Given the description of an element on the screen output the (x, y) to click on. 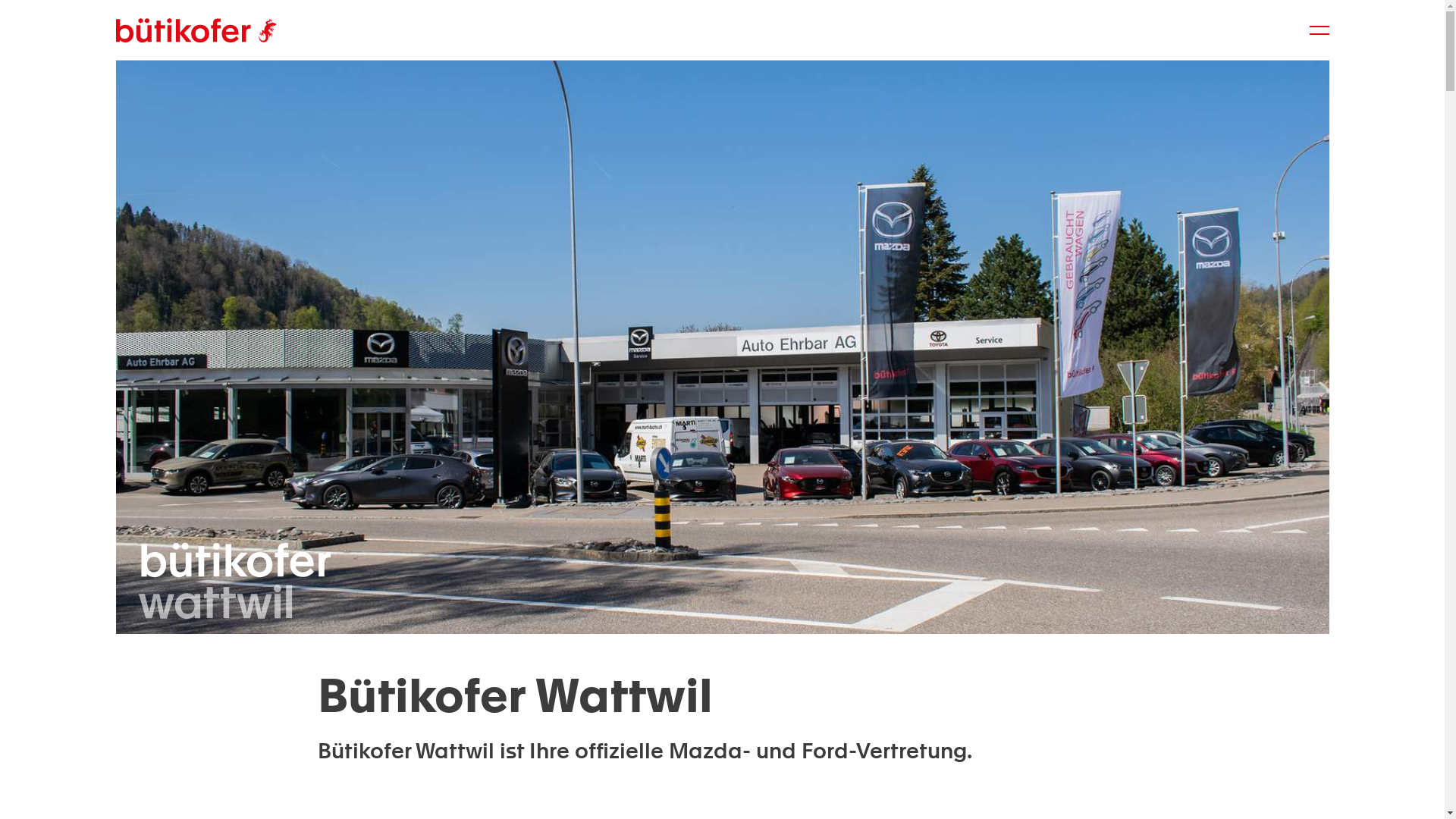
Kategorie-Navigation anzeigen Element type: text (1319, 30)
